Given the description of an element on the screen output the (x, y) to click on. 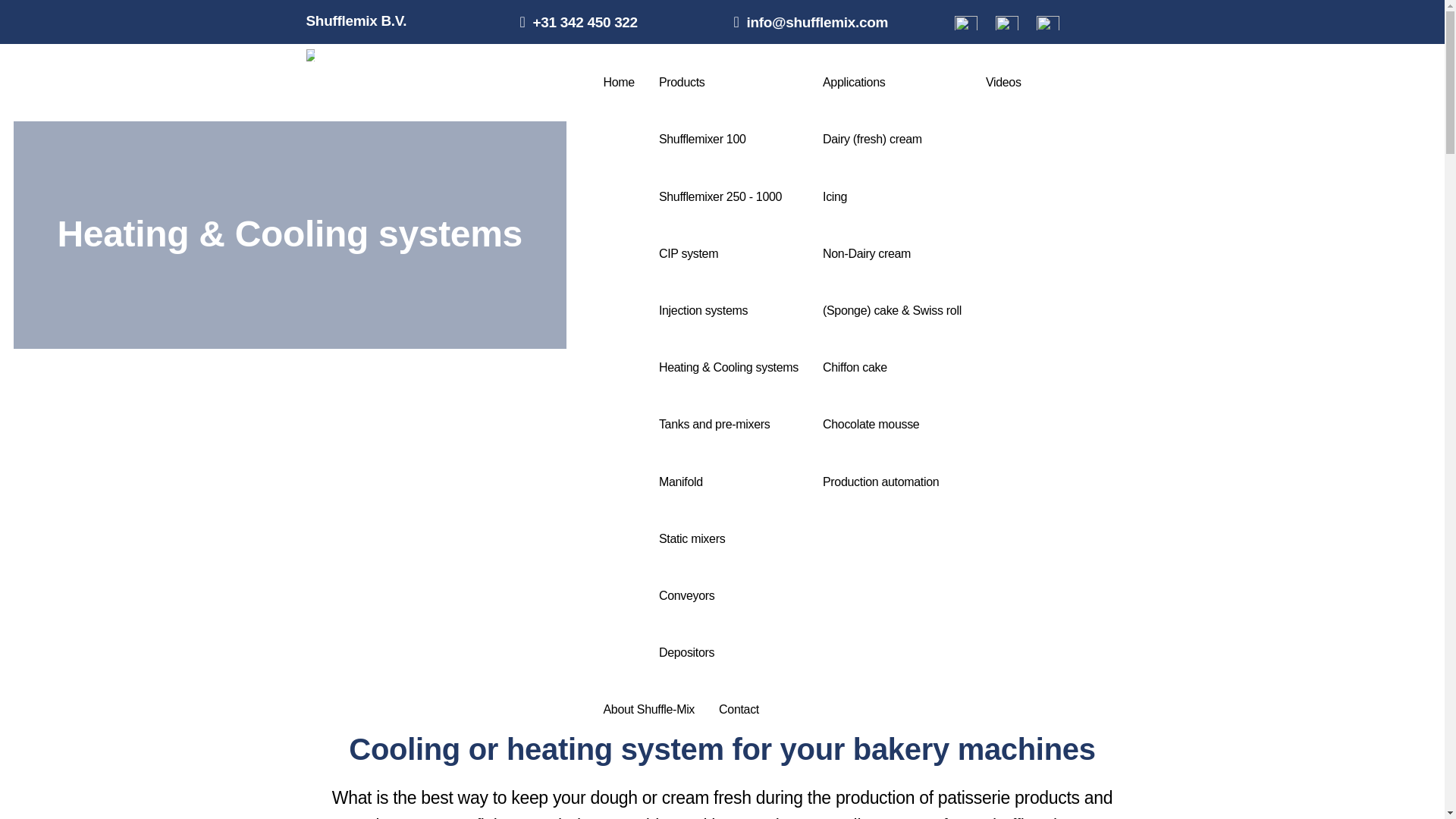
Shufflemixer 250 - 1000 (728, 186)
English (1006, 25)
Home (618, 72)
Shufflemix B.V. (356, 20)
Products (728, 72)
Shufflemixer 100 (728, 129)
Nederlands (965, 25)
Deutsch (1047, 25)
